Given the description of an element on the screen output the (x, y) to click on. 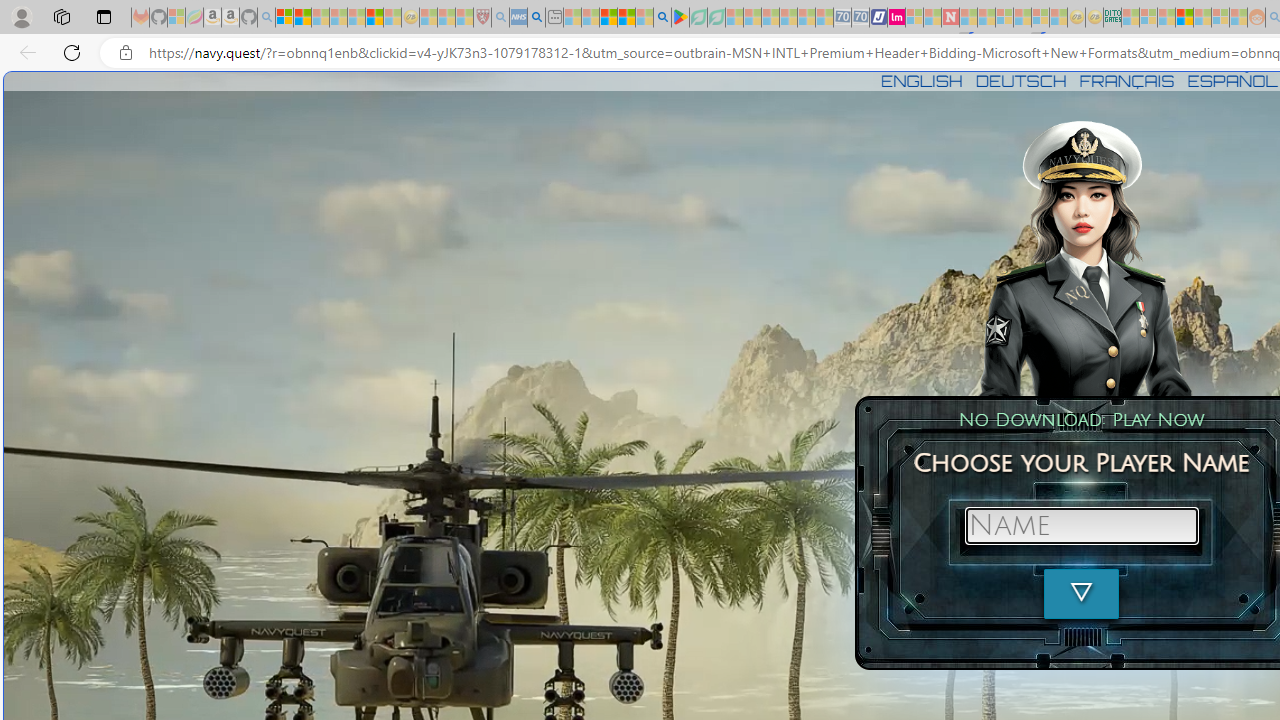
Pets - MSN (626, 17)
Bluey: Let's Play! - Apps on Google Play (680, 17)
